Given the description of an element on the screen output the (x, y) to click on. 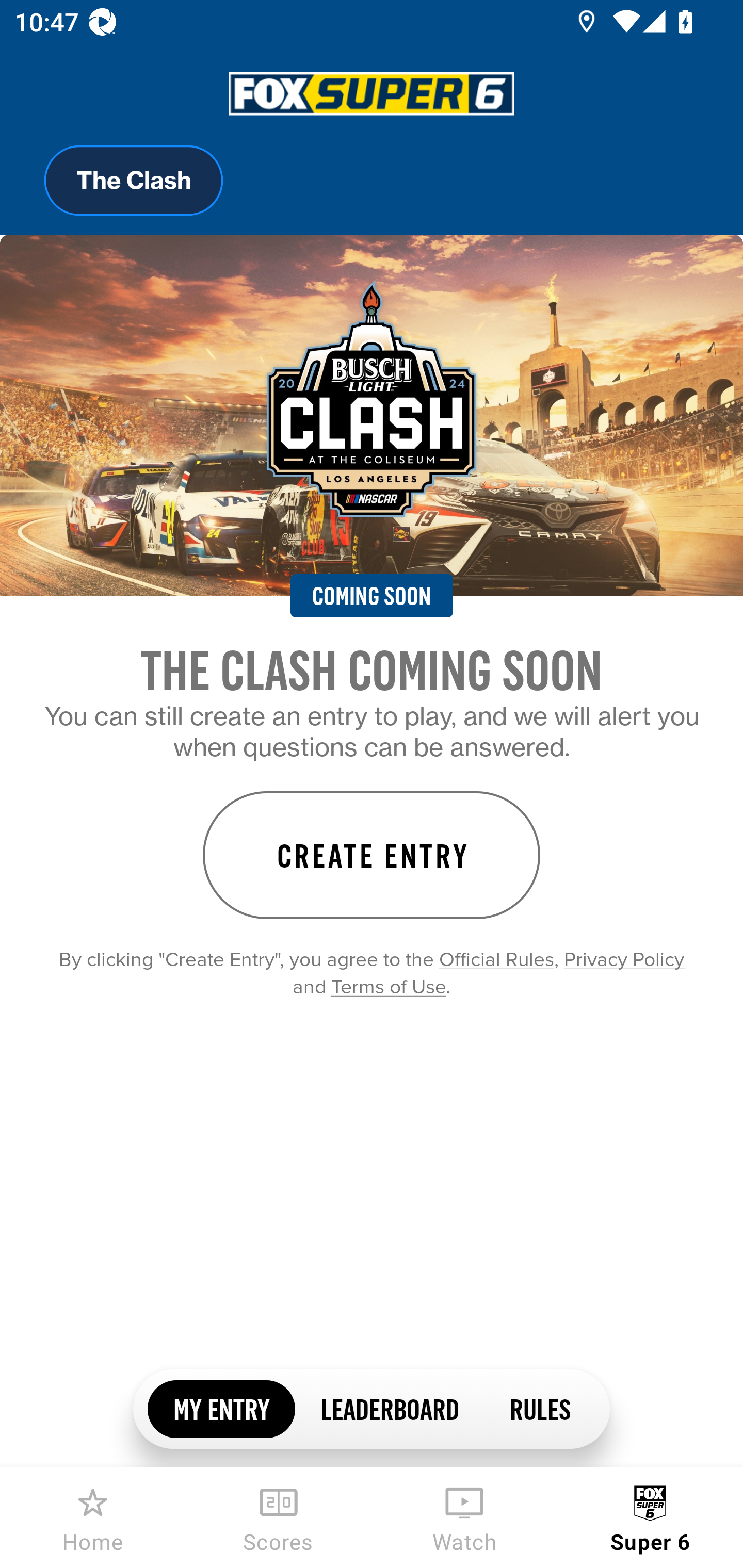
CREATE ENTRY (371, 854)
LEADERBOARD (388, 1408)
RULES (539, 1408)
Home (92, 1517)
Scores (278, 1517)
Watch (464, 1517)
